Given the description of an element on the screen output the (x, y) to click on. 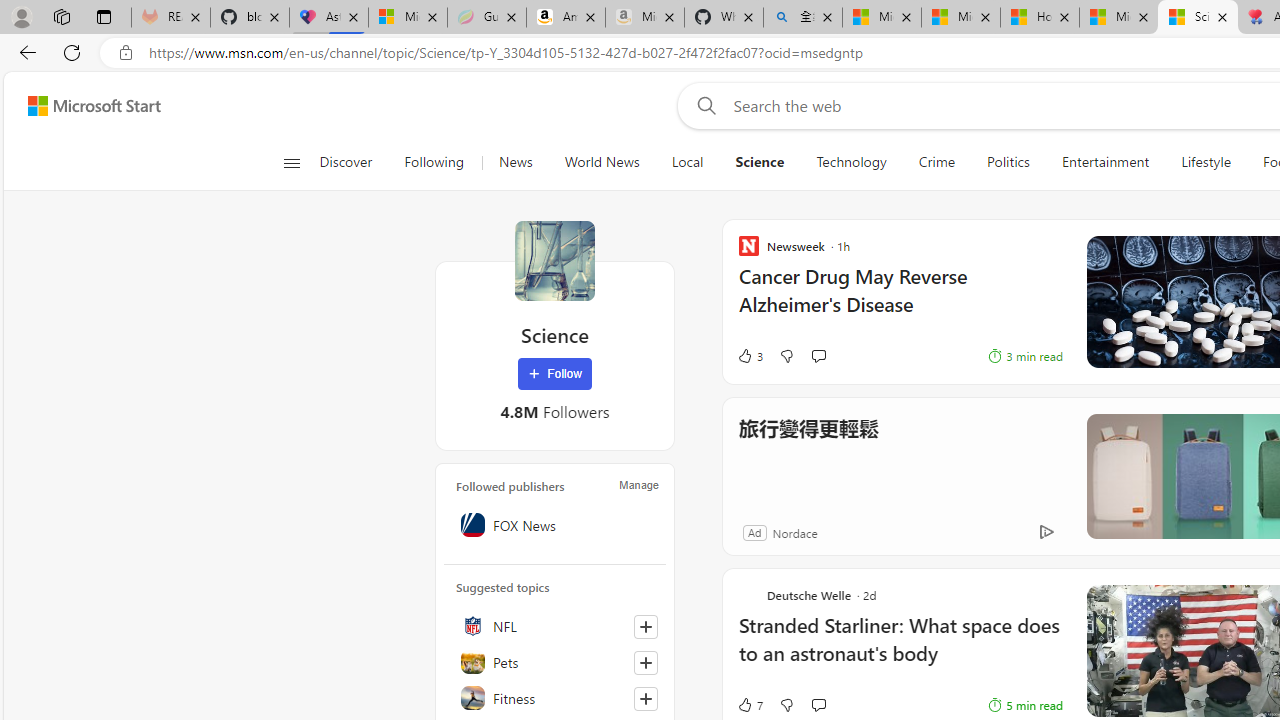
3 Like (749, 355)
Technology (851, 162)
Politics (1008, 162)
Lifestyle (1206, 162)
Entertainment (1105, 162)
